Given the description of an element on the screen output the (x, y) to click on. 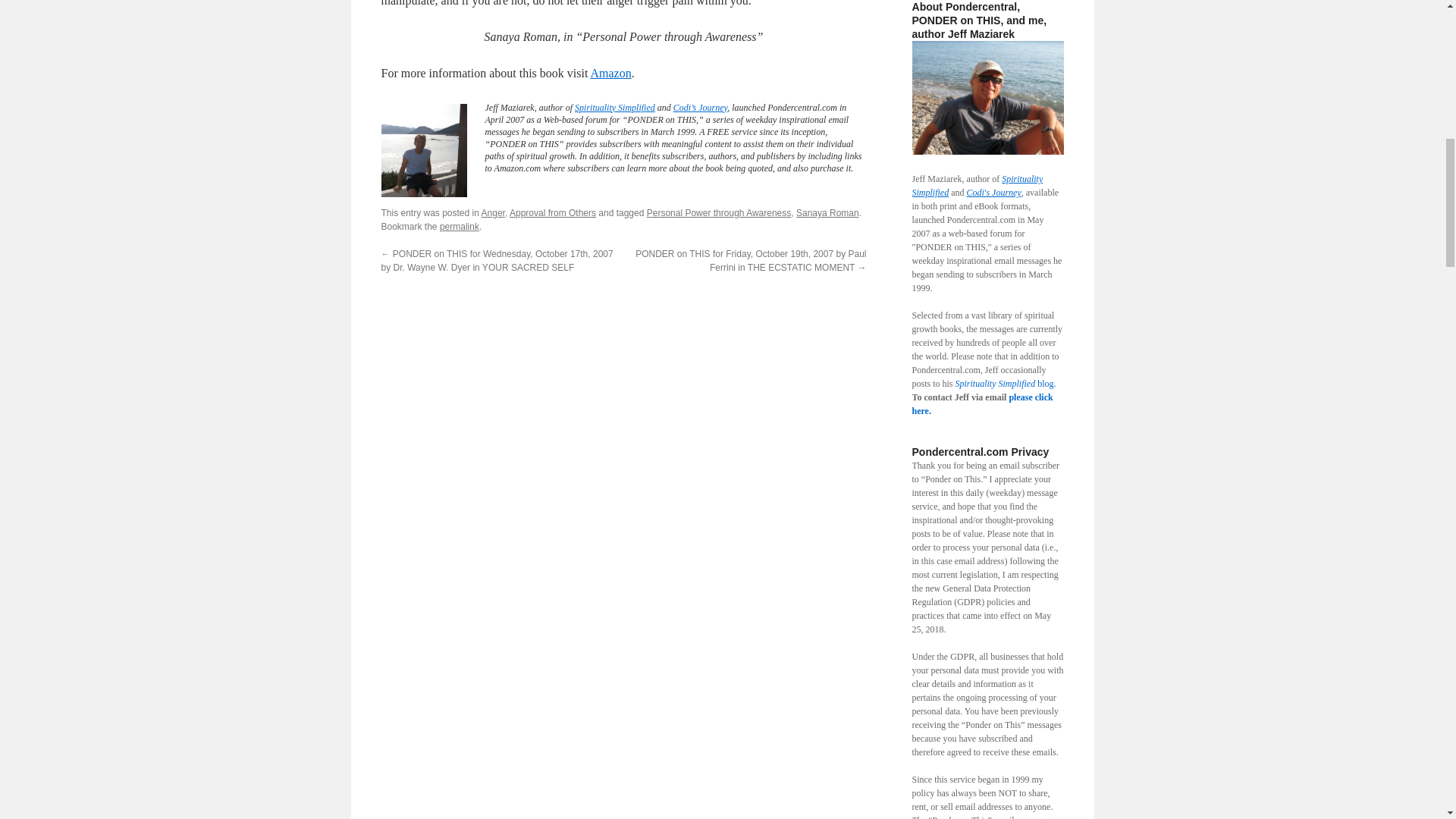
Anger (493, 213)
Personal Power through Awareness (719, 213)
Amazon (609, 72)
Spirituality Simplified blog. (1006, 383)
permalink (459, 226)
Codi's Journey (993, 192)
Sanaya Roman (827, 213)
Spirituality Simplified (615, 107)
Approval from Others (552, 213)
please click here. (981, 404)
Spirituality Simplified (976, 185)
